Given the description of an element on the screen output the (x, y) to click on. 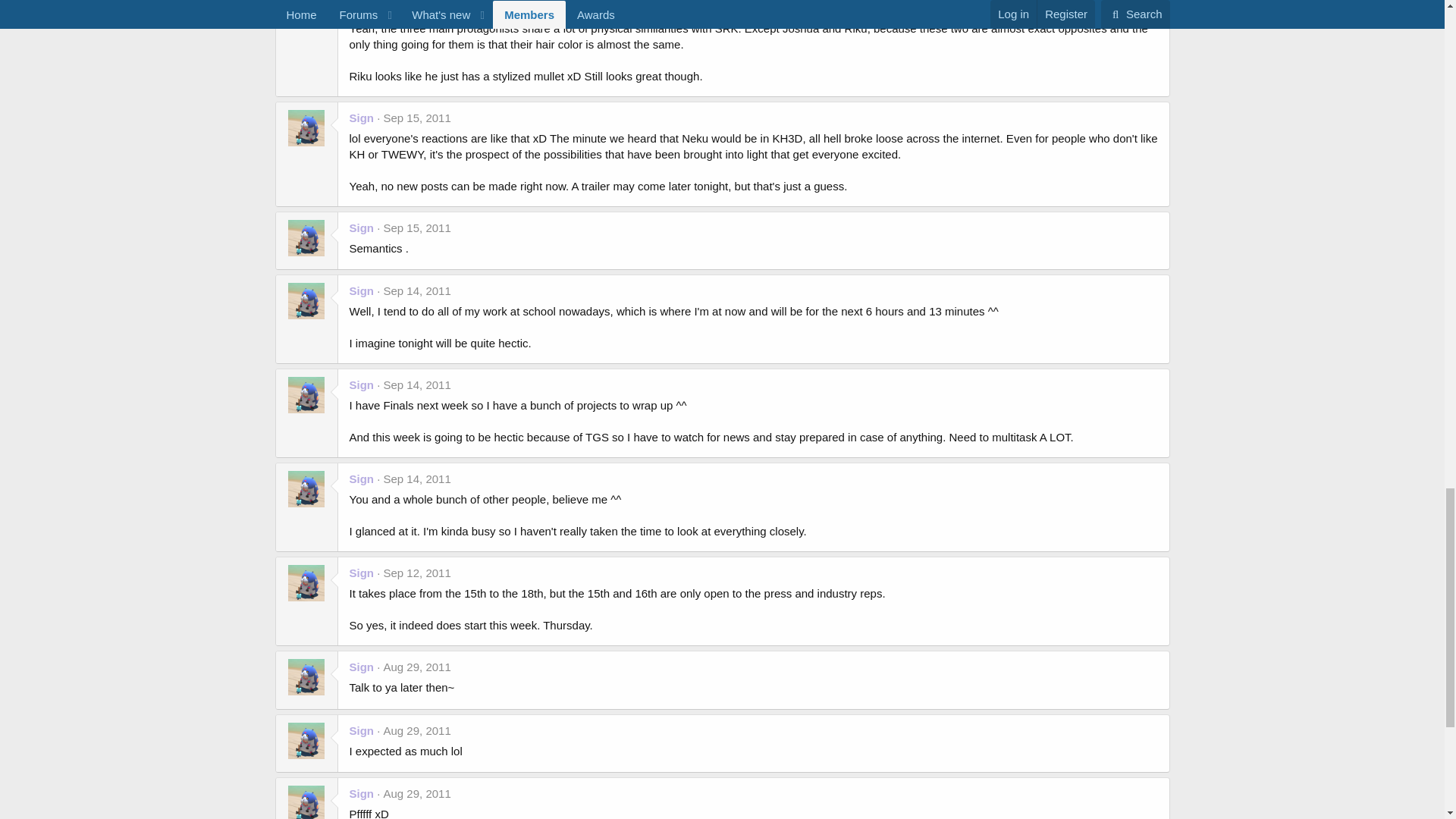
Sep 14, 2011 at 8:33 PM (417, 478)
Sep 14, 2011 at 11:38 PM (417, 384)
Sep 15, 2011 at 7:04 PM (417, 117)
Sep 14, 2011 at 11:47 PM (417, 290)
Sep 15, 2011 at 2:22 AM (417, 227)
